Given the description of an element on the screen output the (x, y) to click on. 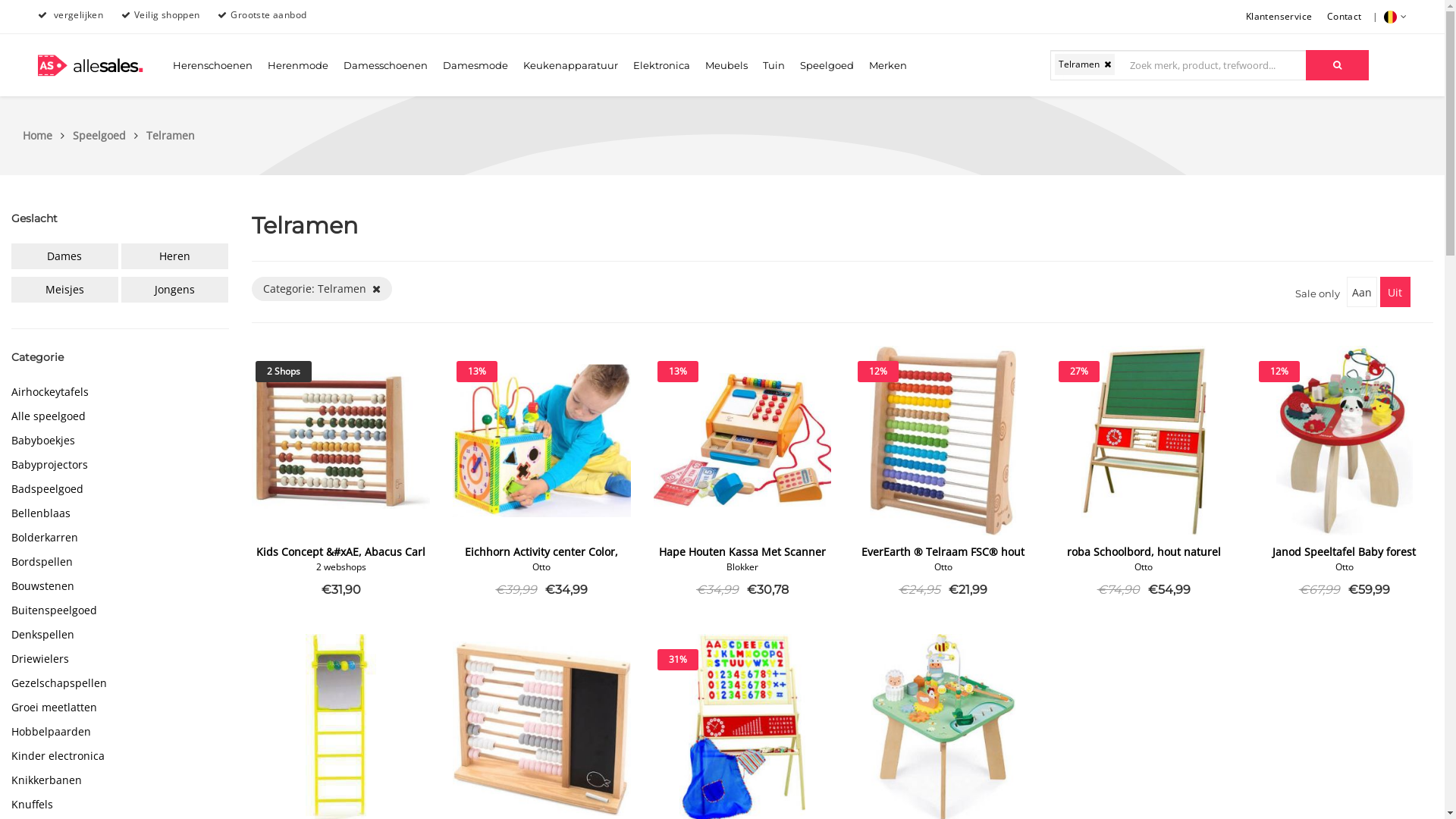
Groei meetlatten Element type: text (120, 707)
Categorie: Telramen   Element type: text (321, 288)
Damesschoenen Element type: text (385, 65)
Bordspellen Element type: text (120, 561)
Airhockeytafels Element type: text (120, 391)
Otto Element type: text (541, 566)
allesales. Element type: text (90, 72)
Meubels Element type: text (726, 65)
Keukenapparatuur Element type: text (570, 65)
Badspeelgoed Element type: text (120, 489)
Herenmode Element type: text (297, 65)
Babyprojectors Element type: text (120, 464)
Home Element type: text (45, 135)
Elektronica Element type: text (661, 65)
Alle speelgoed Element type: text (120, 416)
Tuin Element type: text (773, 65)
2 webshops Element type: text (341, 566)
Blokker Element type: text (742, 566)
Heren Element type: text (174, 256)
Bellenblaas Element type: text (120, 513)
Otto Element type: text (943, 566)
Aan Element type: text (1361, 291)
Damesmode Element type: text (475, 65)
Denkspellen Element type: text (120, 634)
Eichhorn Activity center Color, kleine activitycenter Element type: text (541, 560)
Knikkerbanen Element type: text (120, 780)
Speelgoed Element type: text (826, 65)
Kinder electronica Element type: text (120, 755)
Bouwstenen Element type: text (120, 586)
Speelgoed Element type: text (107, 135)
Hape Houten Kassa Met Scanner En Pin Element type: text (741, 560)
Hobbelpaarden Element type: text (120, 731)
Telramen   Element type: text (1084, 63)
Dames Element type: text (64, 256)
Contact Element type: text (1344, 16)
Kids Concept &#xAE, Abacus Carl Larsson Element type: text (340, 560)
Herenschoenen Element type: text (212, 65)
Knuffels Element type: text (120, 804)
Meisjes Element type: text (64, 289)
Otto Element type: text (1344, 566)
Uit Element type: text (1395, 291)
Telramen Element type: text (170, 135)
Babyboekjes Element type: text (120, 440)
Driewielers Element type: text (120, 658)
Gezelschapspellen Element type: text (120, 683)
Klantenservice Element type: text (1278, 16)
Jongens Element type: text (174, 289)
Bolderkarren Element type: text (120, 537)
roba Schoolbord, hout naturel Element type: text (1143, 551)
Merken Element type: text (887, 65)
Janod Speeltafel Baby forest Activity tafel Element type: text (1343, 560)
Otto Element type: text (1143, 566)
Buitenspeelgoed Element type: text (120, 610)
